Given the description of an element on the screen output the (x, y) to click on. 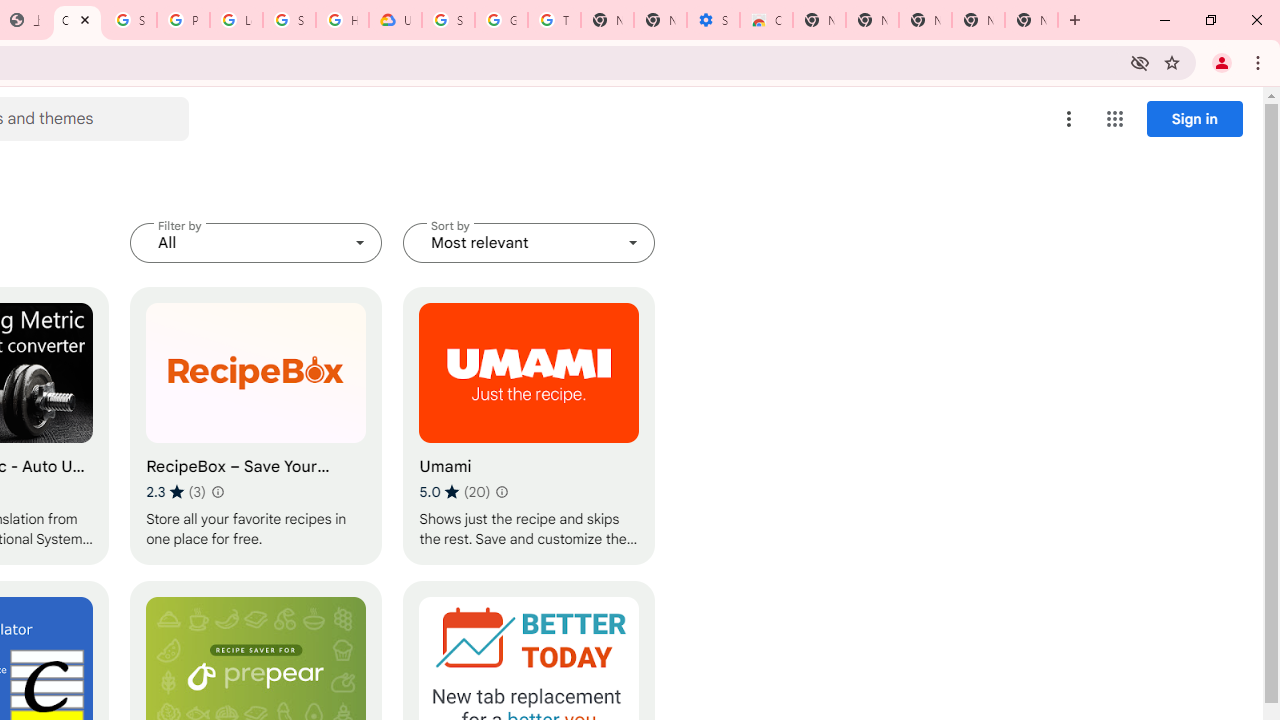
Sort by Most relevant (529, 242)
Turn cookies on or off - Computer - Google Account Help (554, 20)
